Given the description of an element on the screen output the (x, y) to click on. 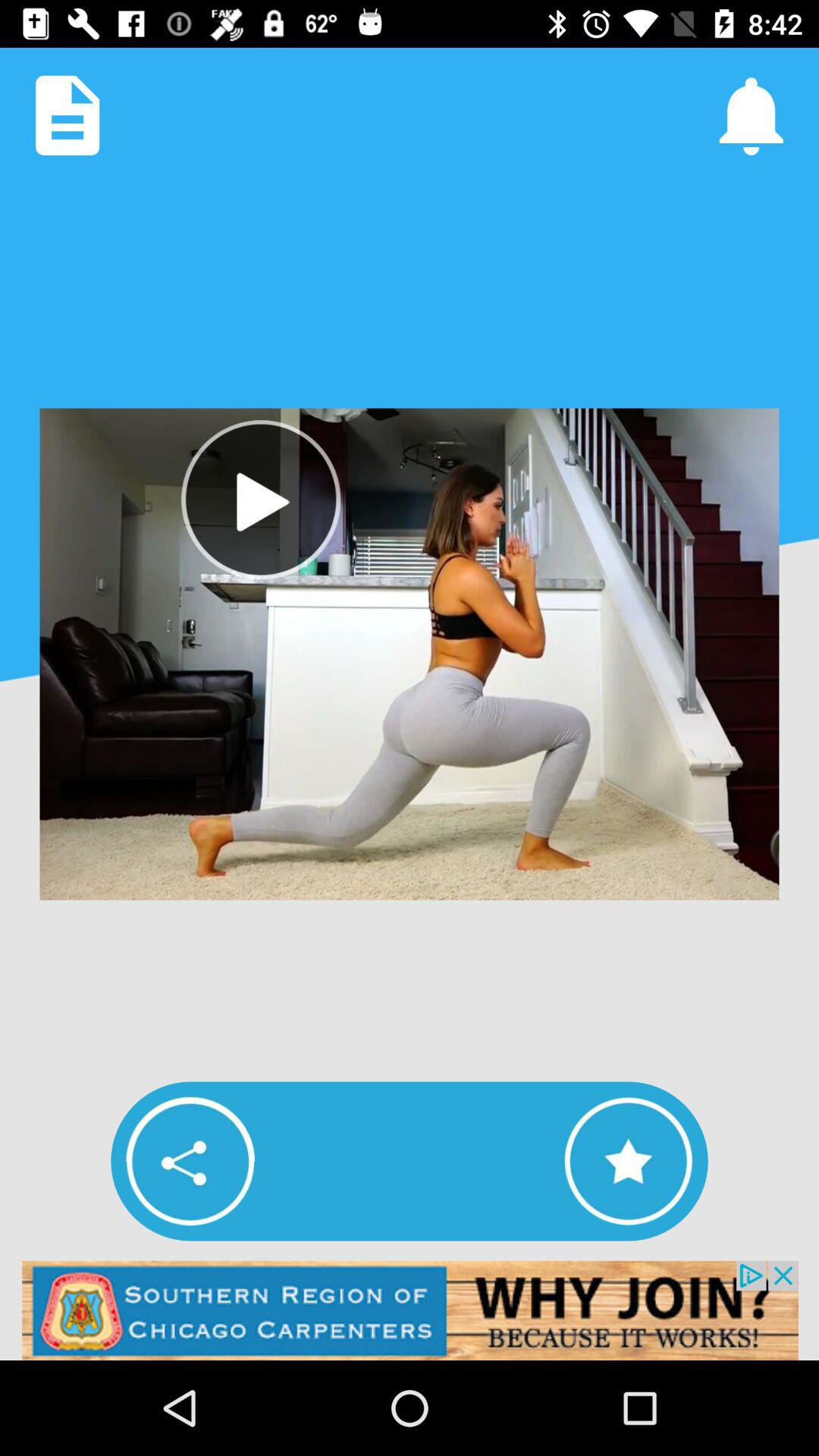
share (190, 1161)
